Given the description of an element on the screen output the (x, y) to click on. 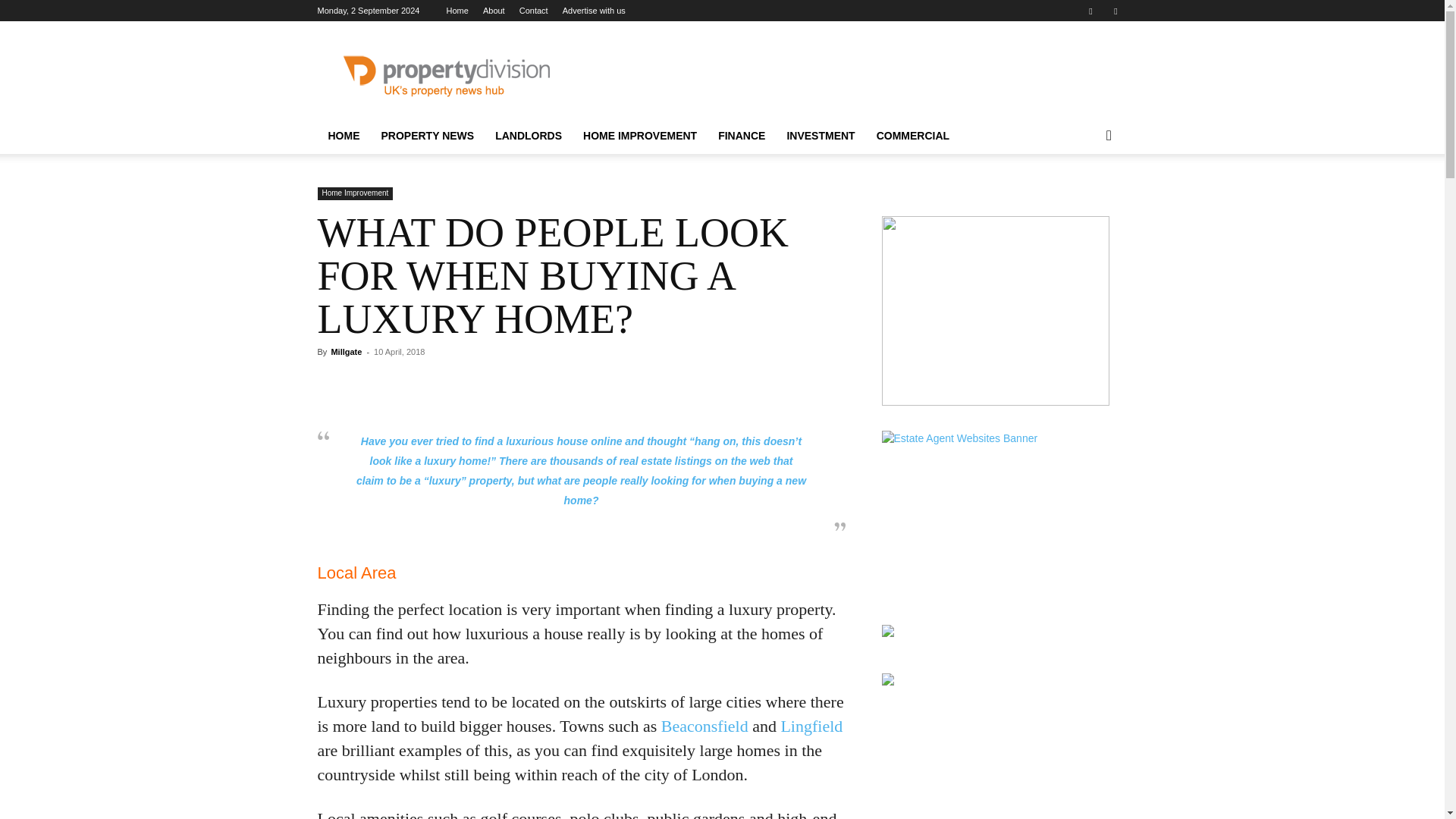
Home Improvement (355, 193)
FINANCE (741, 135)
HOME IMPROVEMENT (639, 135)
LANDLORDS (528, 135)
INVESTMENT (820, 135)
About (494, 10)
Advertise with us (594, 10)
PROPERTY NEWS (426, 135)
Twitter (1114, 10)
HOME (343, 135)
